Given the description of an element on the screen output the (x, y) to click on. 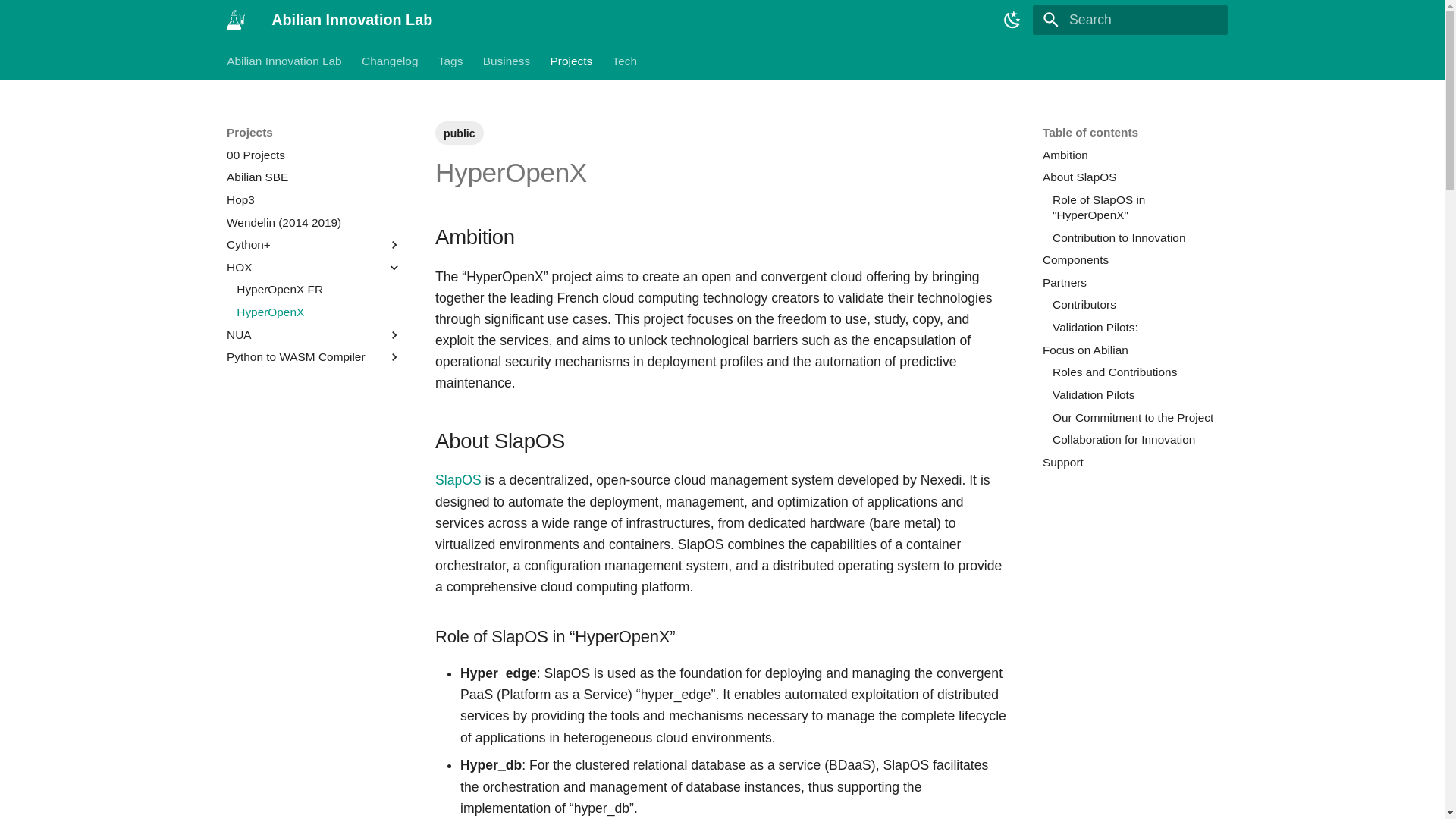
Abilian Innovation Lab (234, 19)
Abilian Innovation Lab (283, 60)
Changelog (389, 60)
Projects (571, 60)
Business (506, 60)
Tech (624, 60)
Tags (450, 60)
Switch to dark mode (1012, 19)
